Given the description of an element on the screen output the (x, y) to click on. 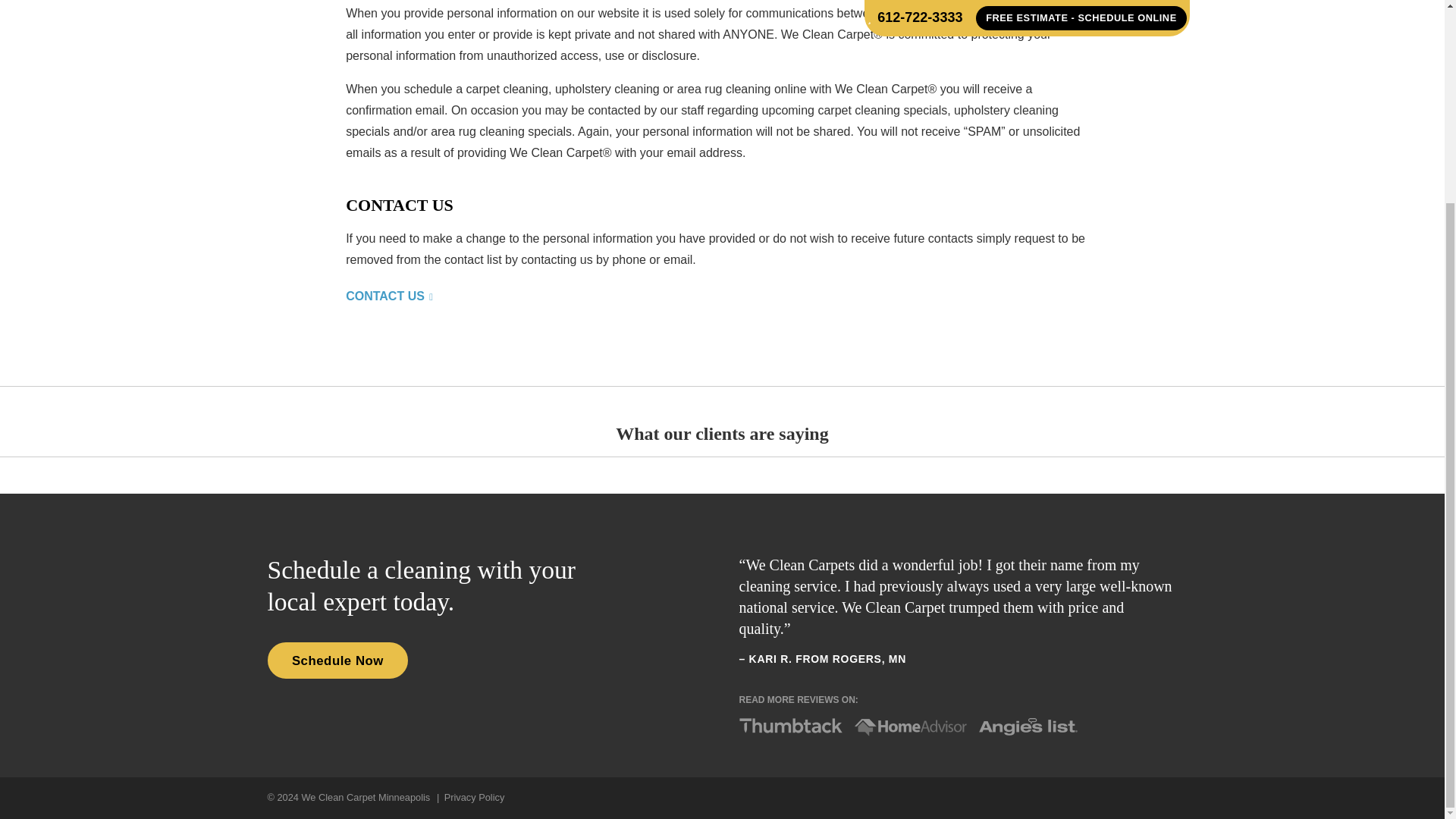
CONTACT US (389, 295)
Privacy Policy (474, 797)
Schedule Now (336, 660)
